Given the description of an element on the screen output the (x, y) to click on. 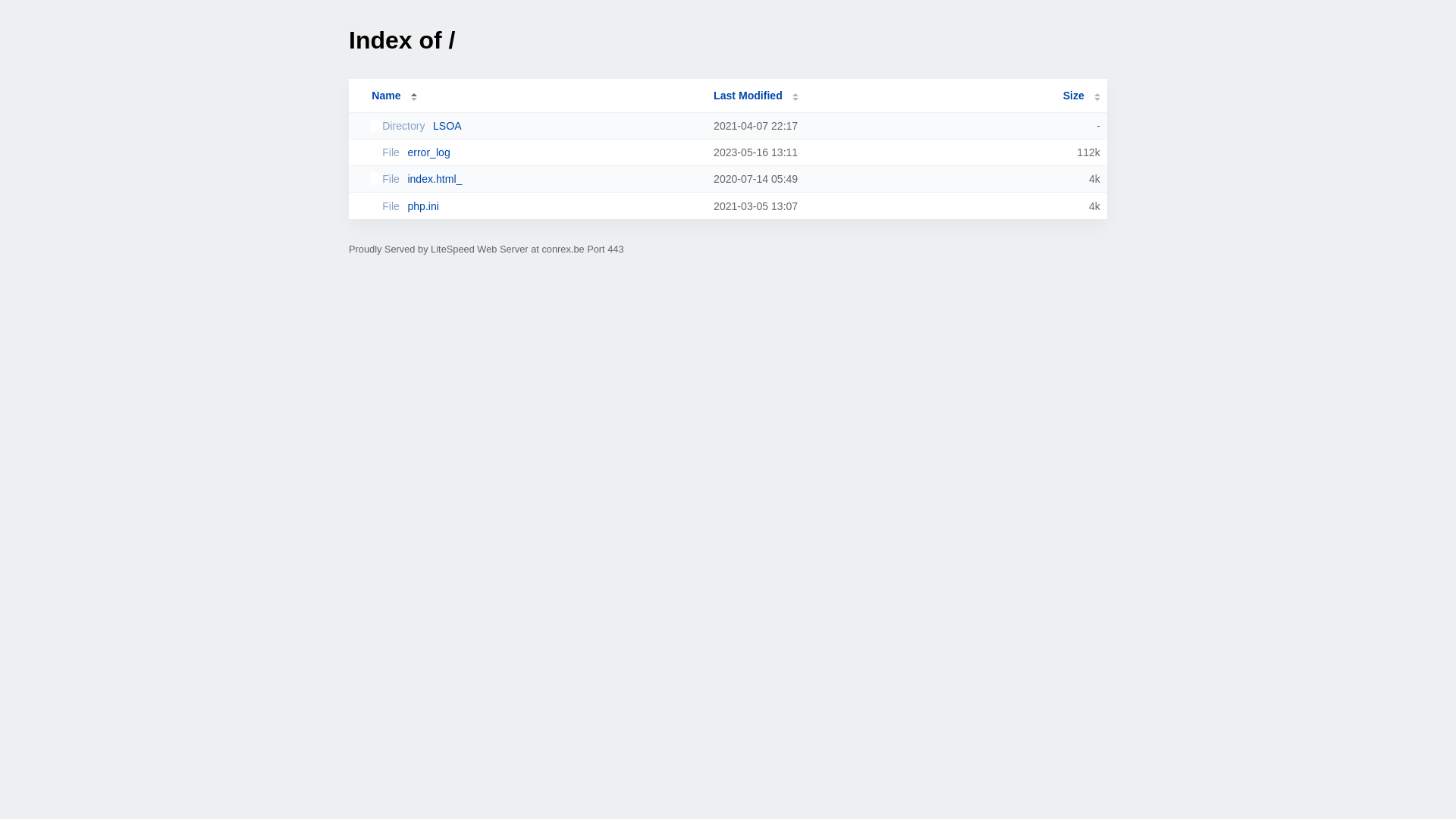
Size Element type: text (1081, 95)
Name Element type: text (385, 95)
php.ini Element type: text (534, 206)
LSOA Element type: text (534, 125)
index.html_ Element type: text (534, 178)
Last Modified Element type: text (755, 95)
error_log Element type: text (534, 152)
